Given the description of an element on the screen output the (x, y) to click on. 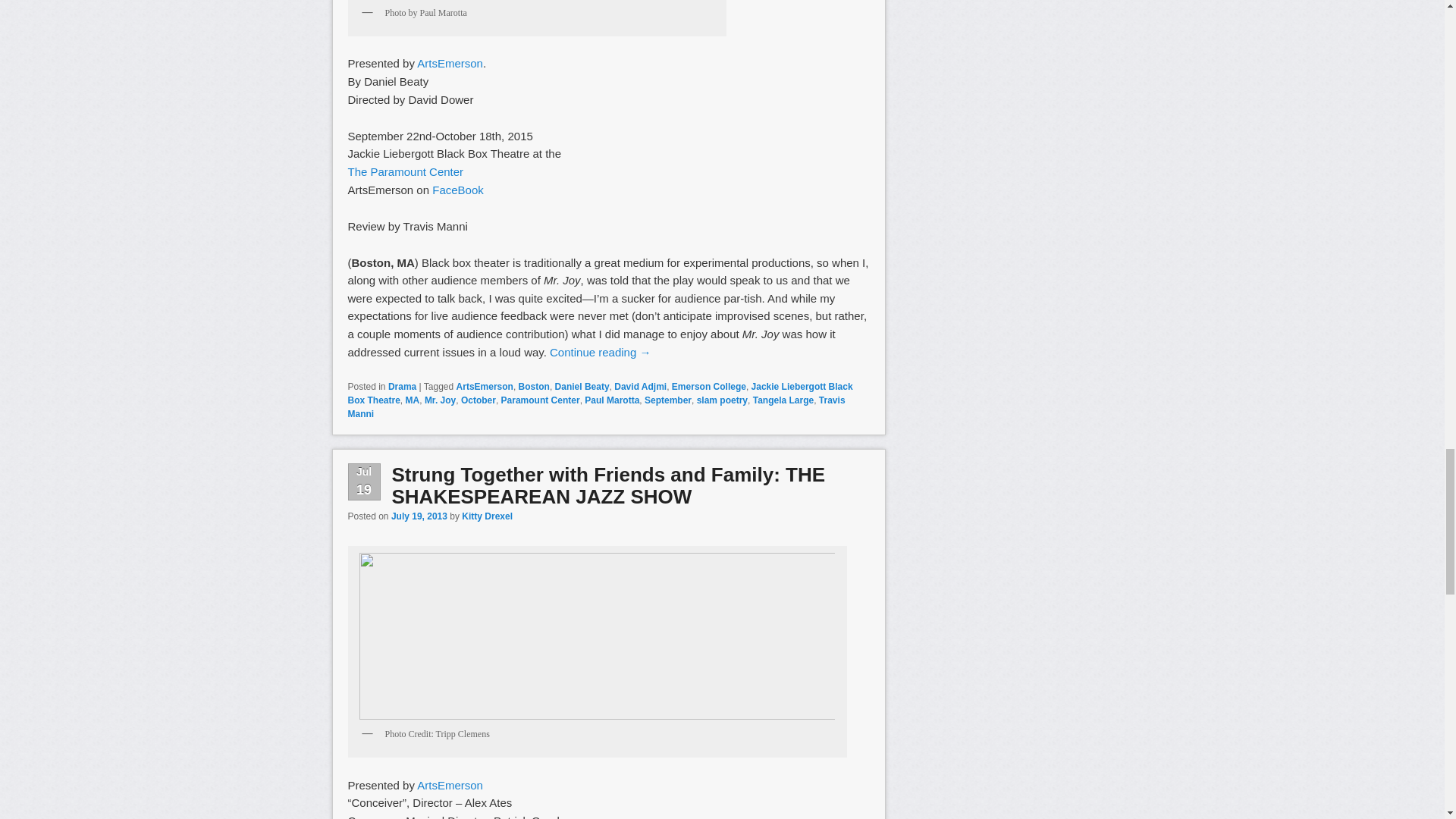
1:26 pm (418, 516)
View all posts by Kitty Drexel (486, 516)
